Given the description of an element on the screen output the (x, y) to click on. 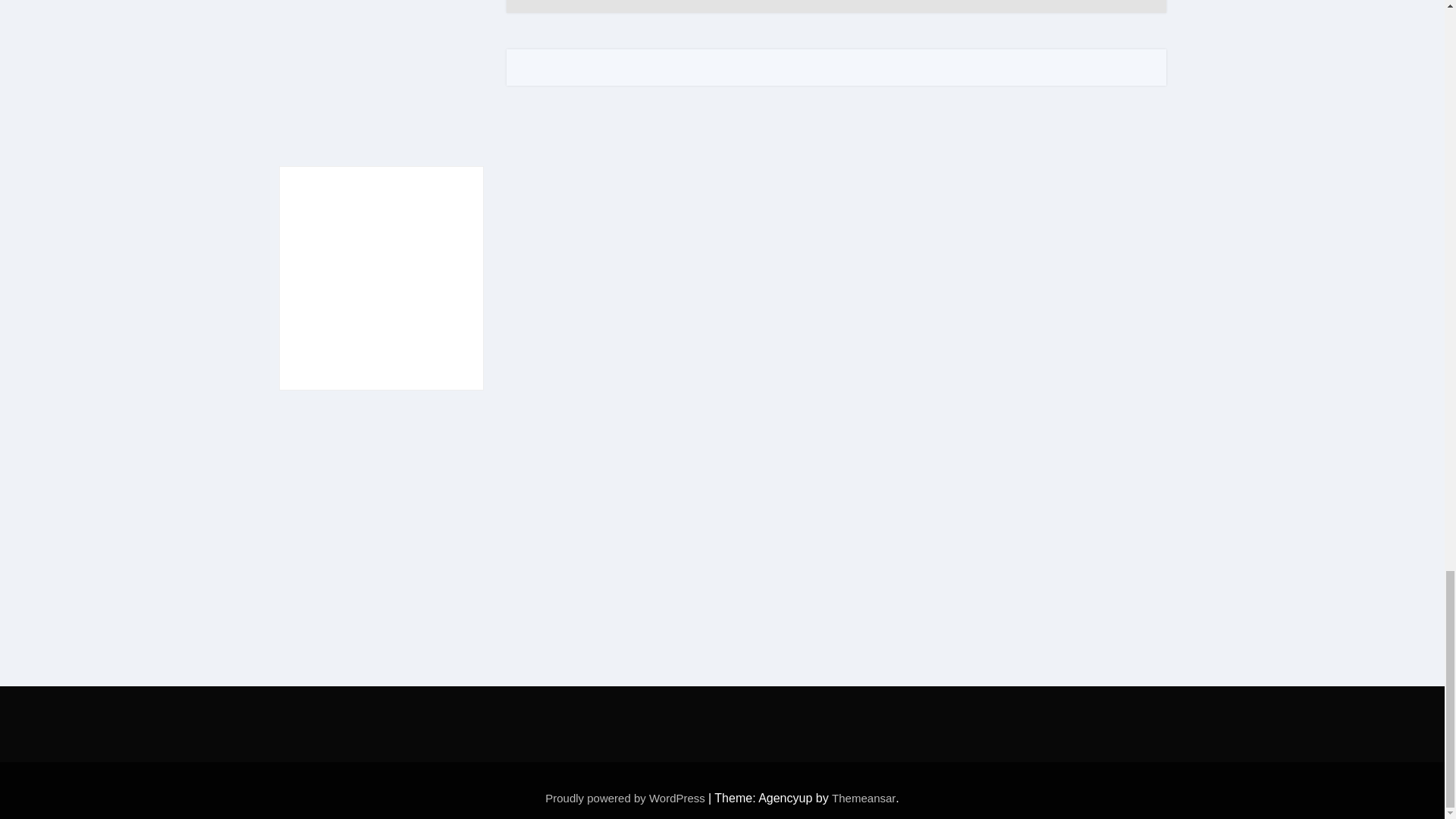
Advertisement (382, 71)
Proudly powered by WordPress (625, 797)
Advertisement (721, 720)
Themeansar (863, 797)
